Given the description of an element on the screen output the (x, y) to click on. 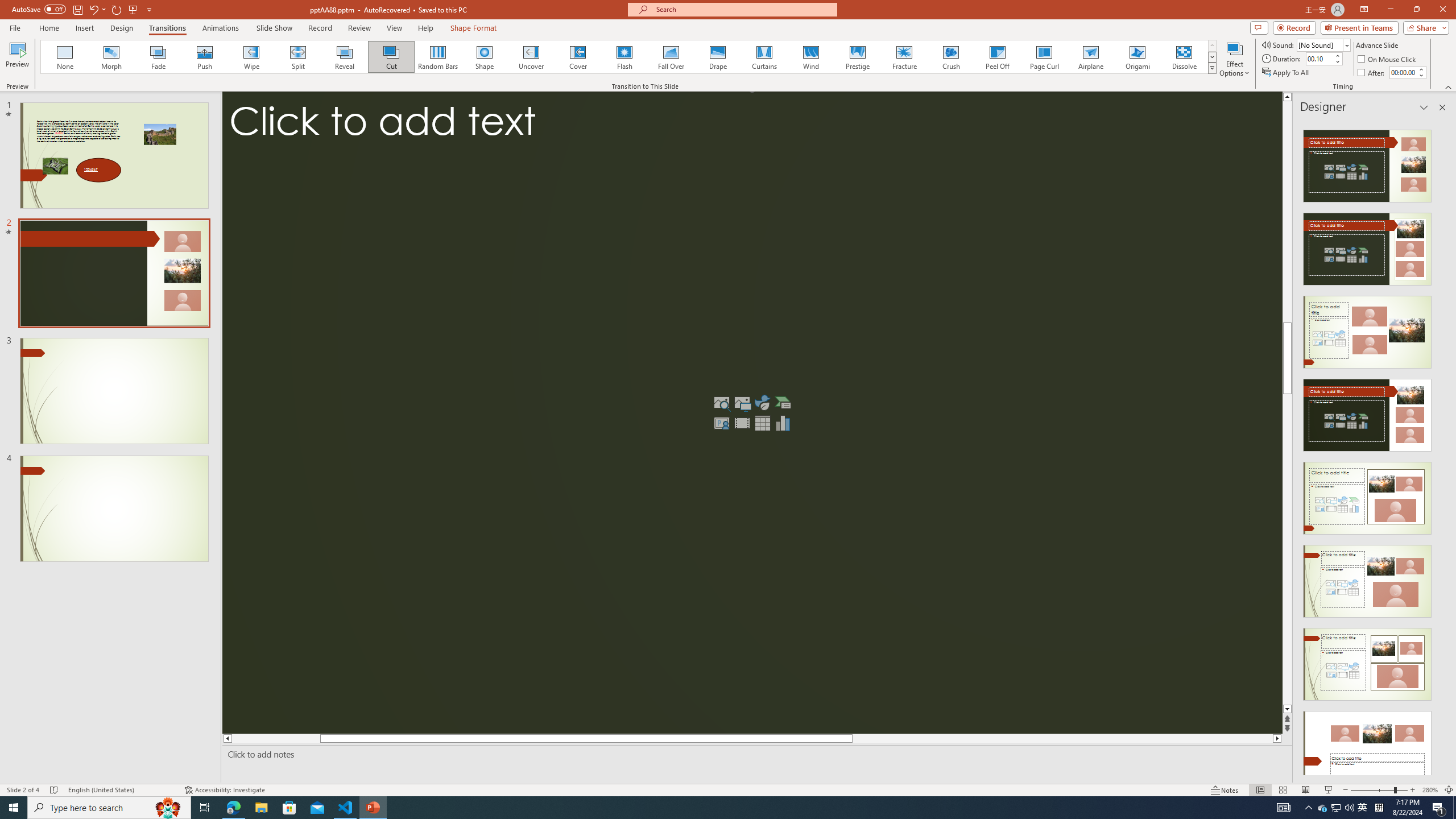
Prestige (857, 56)
Reveal (344, 56)
Shape (484, 56)
Dissolve (1183, 56)
Recommended Design: Design Idea (1366, 162)
Drape (717, 56)
Sound (1324, 44)
Random Bars (437, 56)
